Given the description of an element on the screen output the (x, y) to click on. 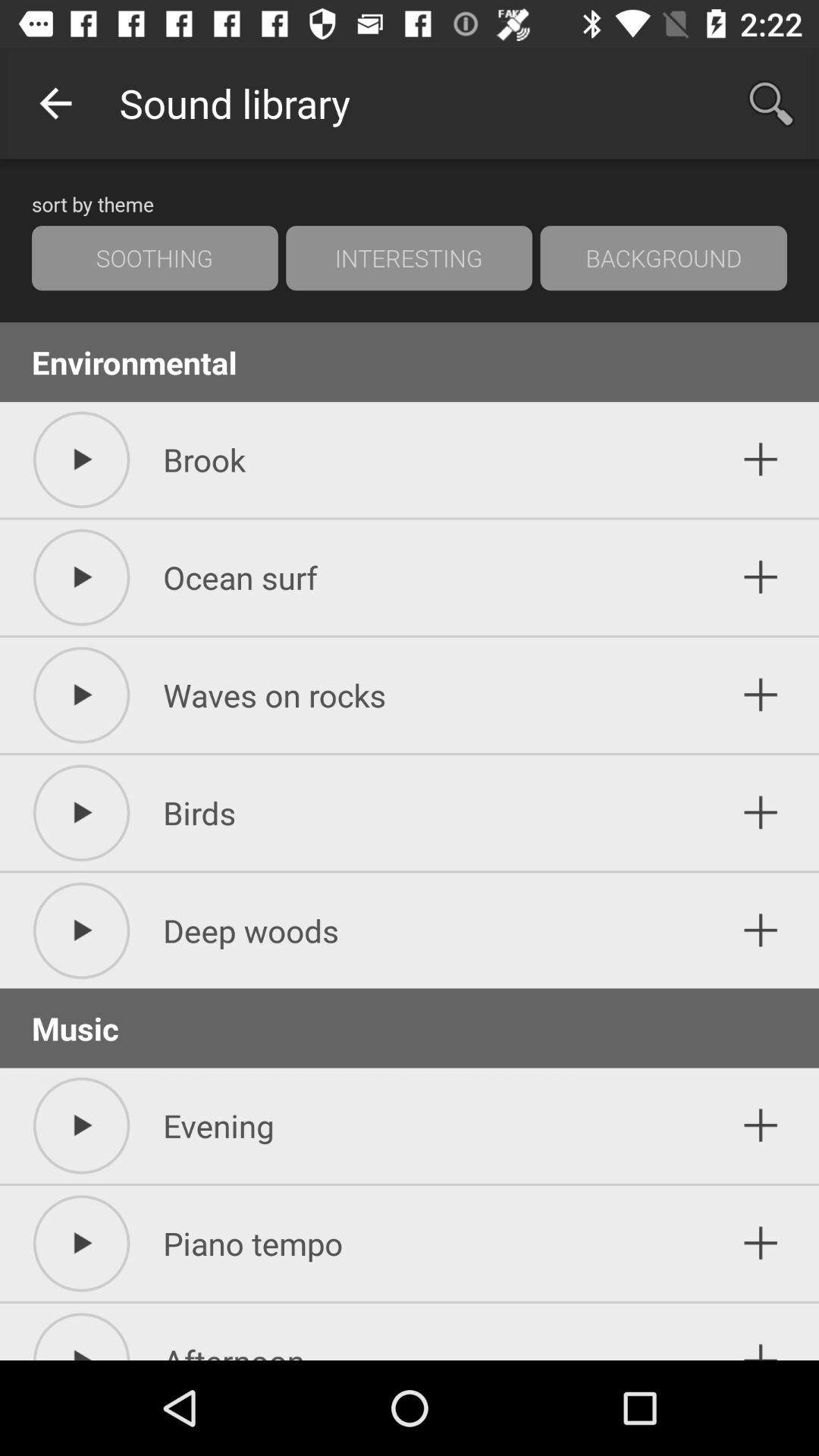
swipe to the soothing (154, 257)
